Given the description of an element on the screen output the (x, y) to click on. 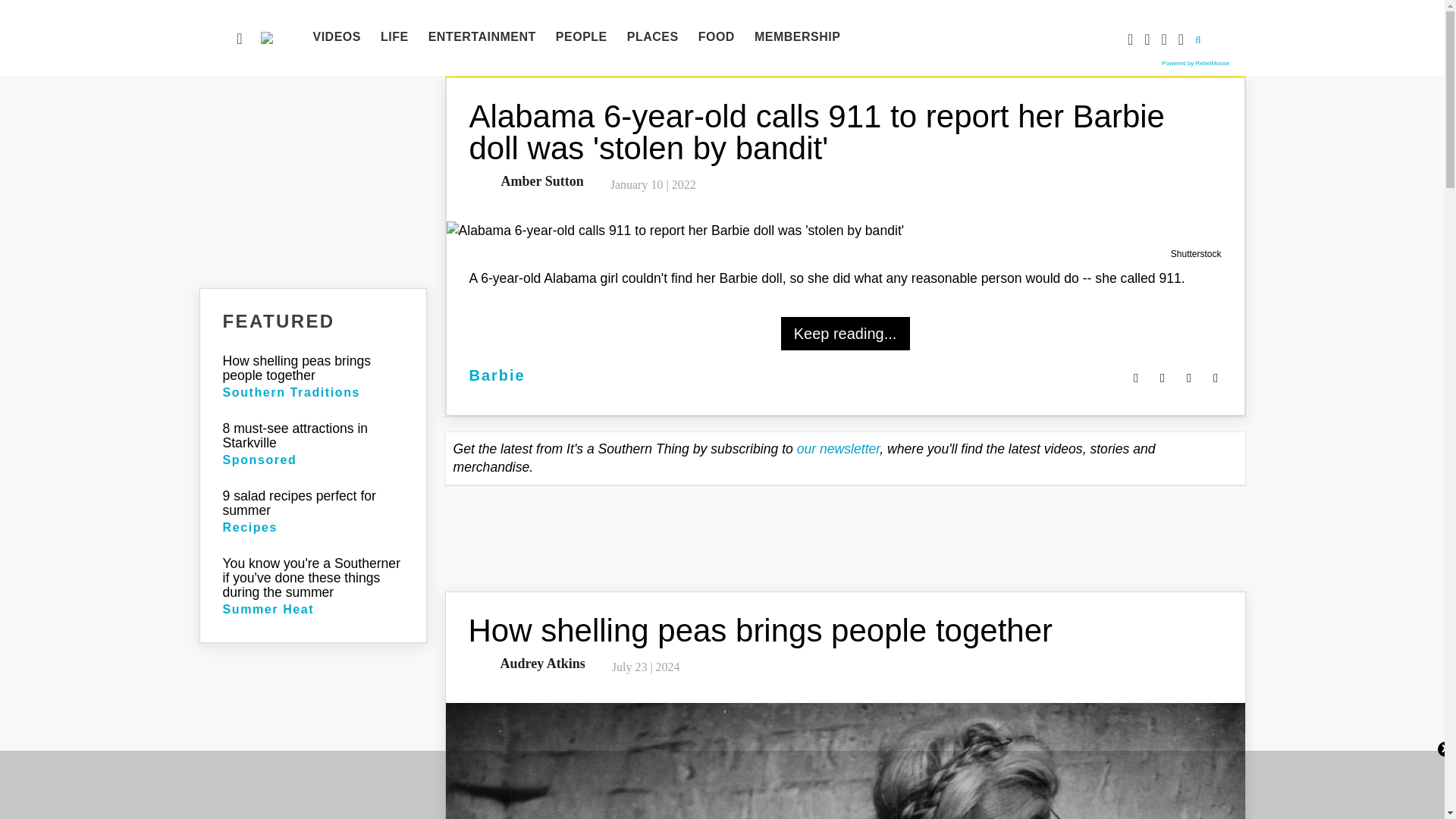
3rd party ad content (312, 742)
Amber Sutton (539, 181)
VIDEOS (336, 36)
FOOD (716, 36)
Barbie (496, 375)
3rd party ad content (312, 170)
PLACES (652, 36)
Best CMS  (1194, 62)
MEMBERSHIP (797, 36)
3rd party ad content (845, 534)
LIFE (395, 36)
ENTERTAINMENT (482, 36)
PEOPLE (581, 36)
Powered by RebelMouse (1194, 62)
